Given the description of an element on the screen output the (x, y) to click on. 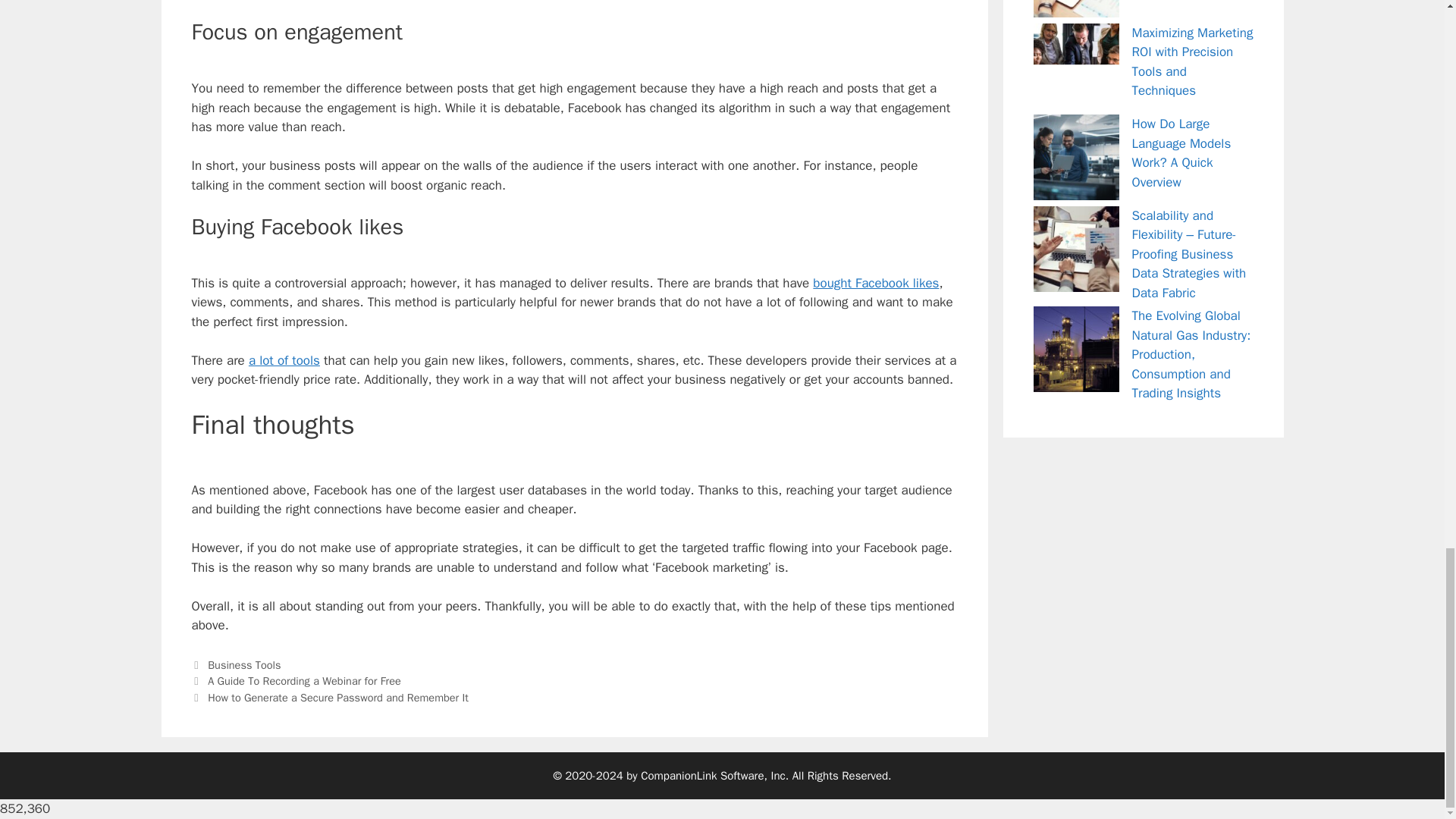
Maximizing Marketing ROI with Precision Tools and Techniques (1191, 61)
bought Facebook likes (875, 283)
Next (328, 697)
How Do Large Language Models Work? A Quick Overview (1180, 153)
How to Generate a Secure Password and Remember It (338, 697)
A Guide To Recording a Webinar for Free (304, 680)
Previous (295, 680)
Business Tools (244, 664)
a lot of tools (284, 360)
